Given the description of an element on the screen output the (x, y) to click on. 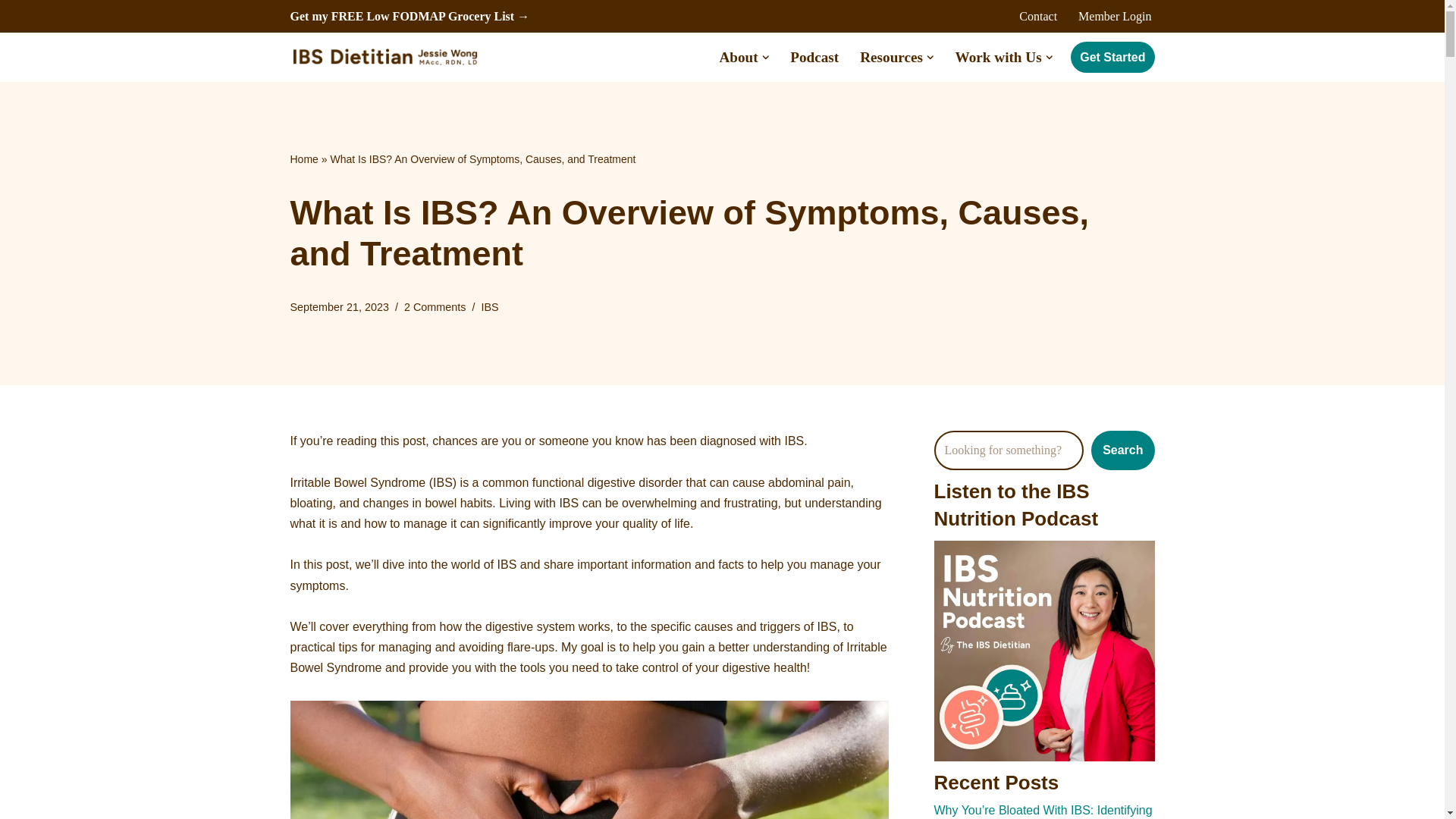
Member Login (1114, 15)
Resources (891, 57)
Work with Us (998, 57)
Podcast (814, 57)
Skip to content (11, 31)
About (738, 57)
Get Started (1112, 57)
Contact (1038, 15)
